Given the description of an element on the screen output the (x, y) to click on. 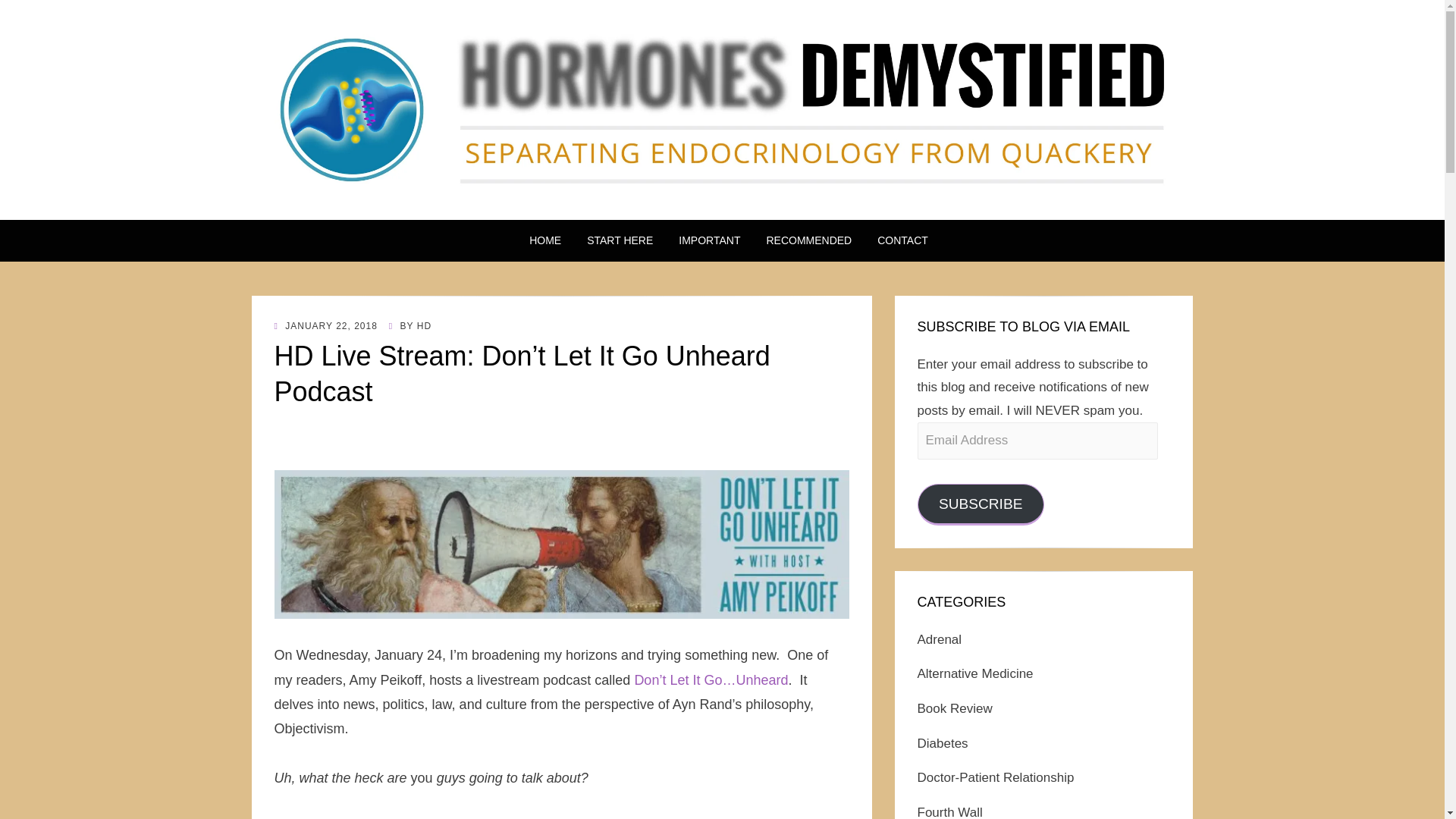
HOME (544, 240)
hormonesdemystified (440, 209)
CONTACT (896, 240)
hormonesdemystified (440, 209)
START HERE (619, 240)
IMPORTANT (708, 240)
RECOMMENDED (808, 240)
HD (423, 326)
JANUARY 22, 2018 (326, 326)
